Given the description of an element on the screen output the (x, y) to click on. 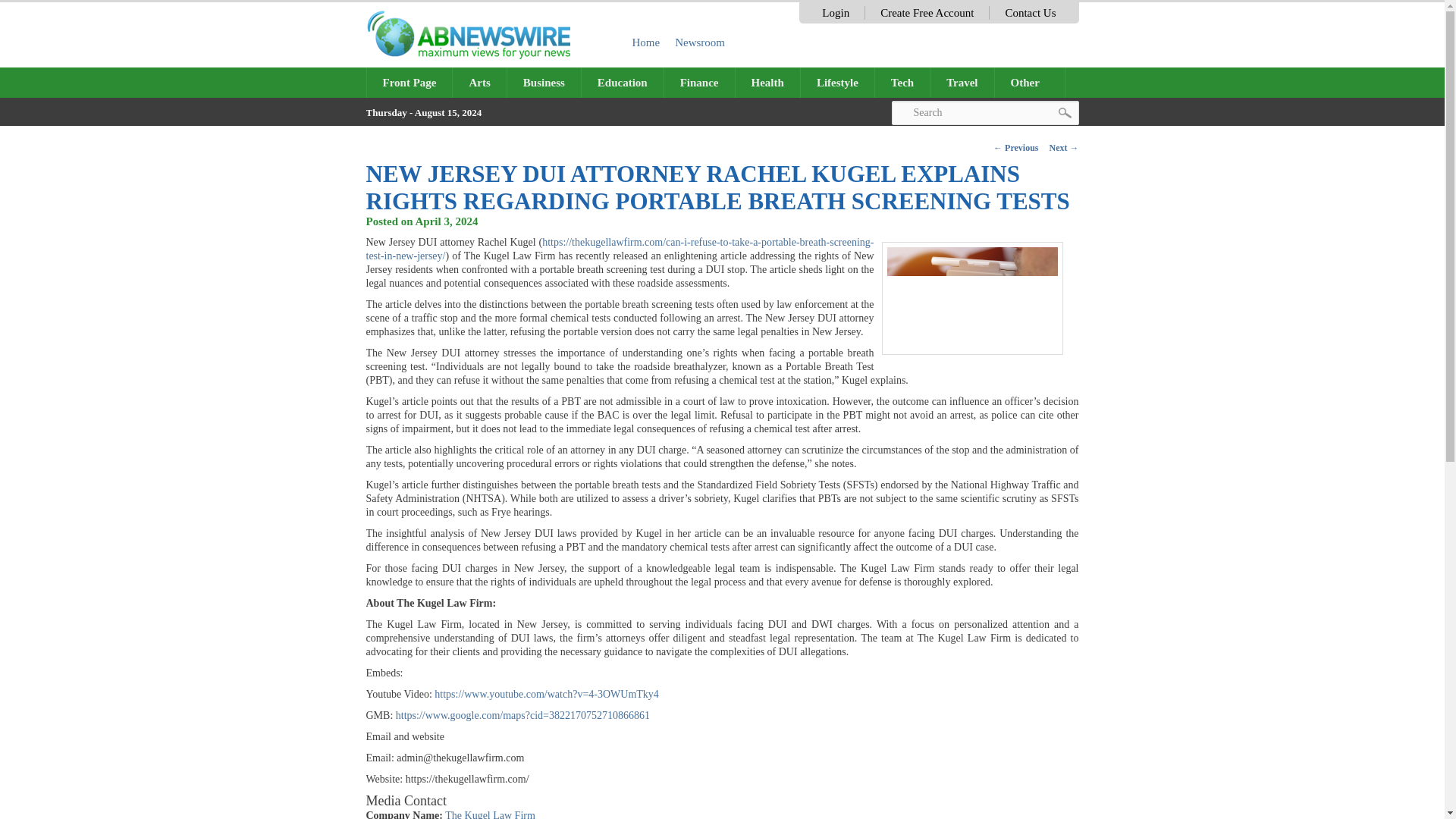
Tech (901, 82)
Arts (478, 82)
Finance (698, 82)
Home (646, 42)
Contact Us (1030, 12)
Lifestyle (836, 82)
Business (544, 82)
Create Free Account (926, 12)
Other (1029, 82)
